Given the description of an element on the screen output the (x, y) to click on. 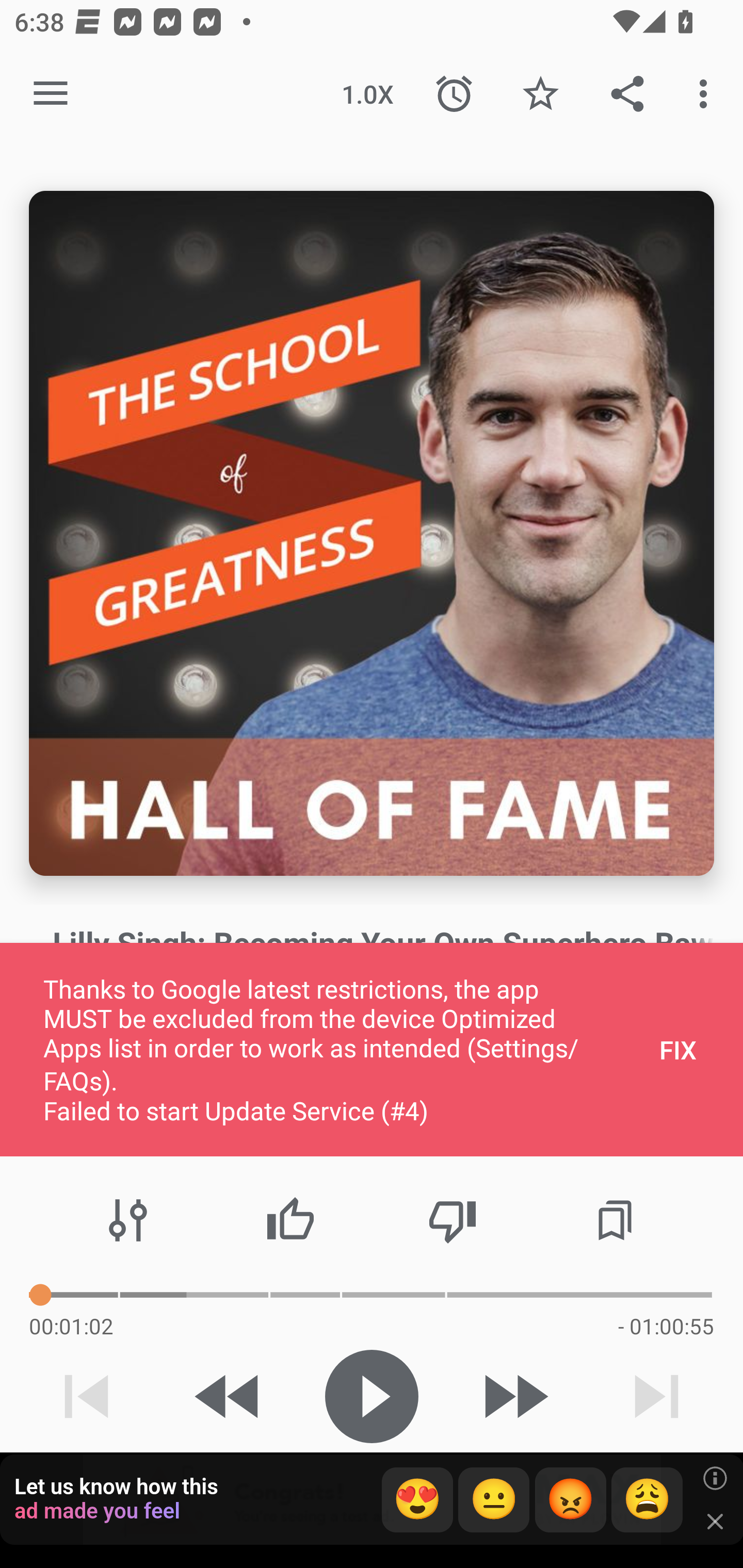
Open navigation sidebar (50, 93)
1.0X (366, 93)
Sleep Timer (453, 93)
Favorite (540, 93)
Share (626, 93)
More options (706, 93)
Episode description (371, 533)
FIX (677, 1049)
Audio effects (127, 1220)
Thumbs up (290, 1220)
Thumbs down (452, 1220)
Chapters / Bookmarks (614, 1220)
- 01:00:55 (666, 1325)
Previous track (86, 1395)
Skip 15s backward (228, 1395)
Play / Pause (371, 1395)
Skip 30s forward (513, 1395)
Next track (656, 1395)
app-monetization (371, 1500)
😍 (416, 1499)
😐 (493, 1499)
😡 (570, 1499)
😩 (647, 1499)
